Given the description of an element on the screen output the (x, y) to click on. 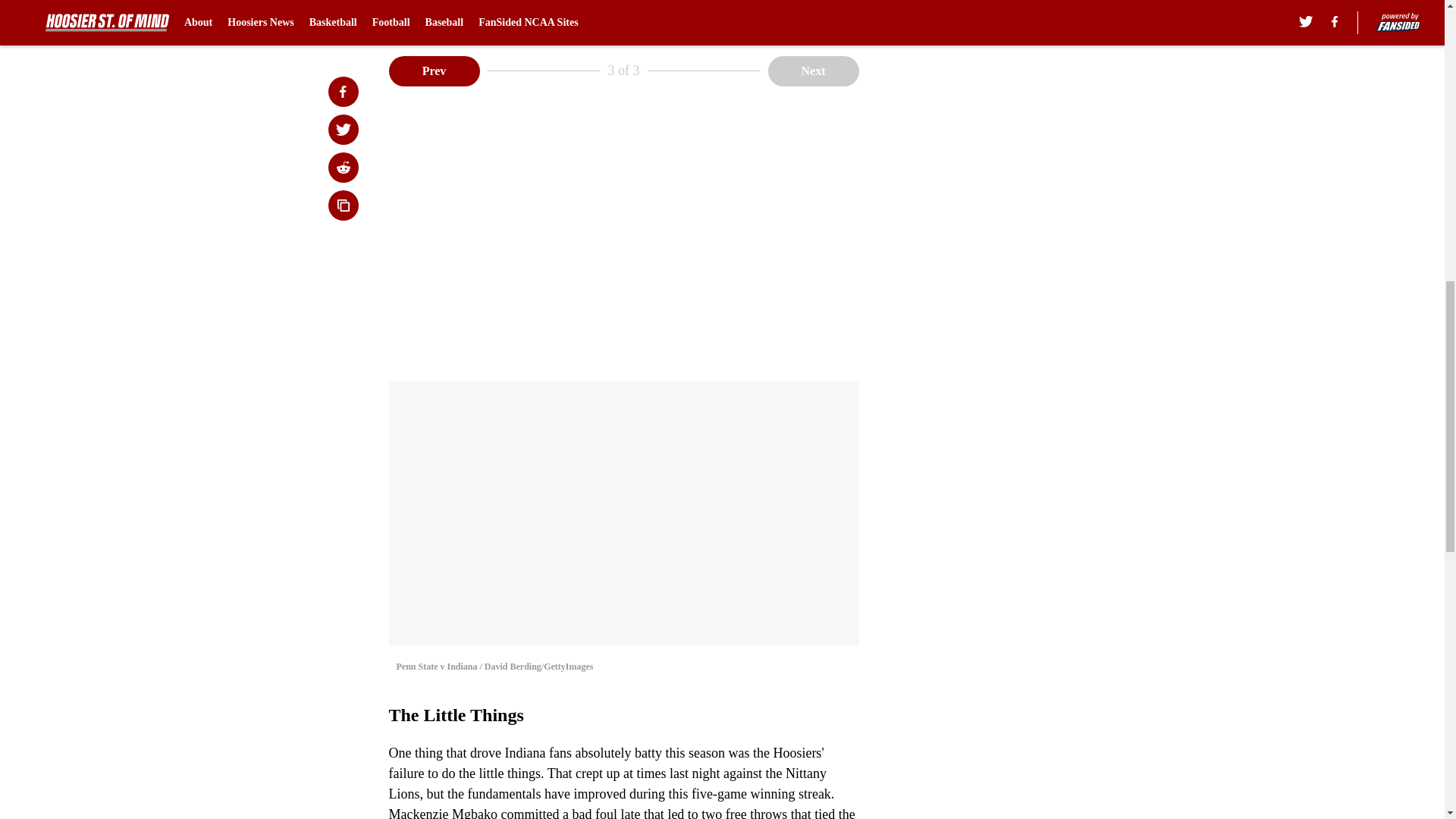
Next (813, 71)
Prev (433, 71)
